Given the description of an element on the screen output the (x, y) to click on. 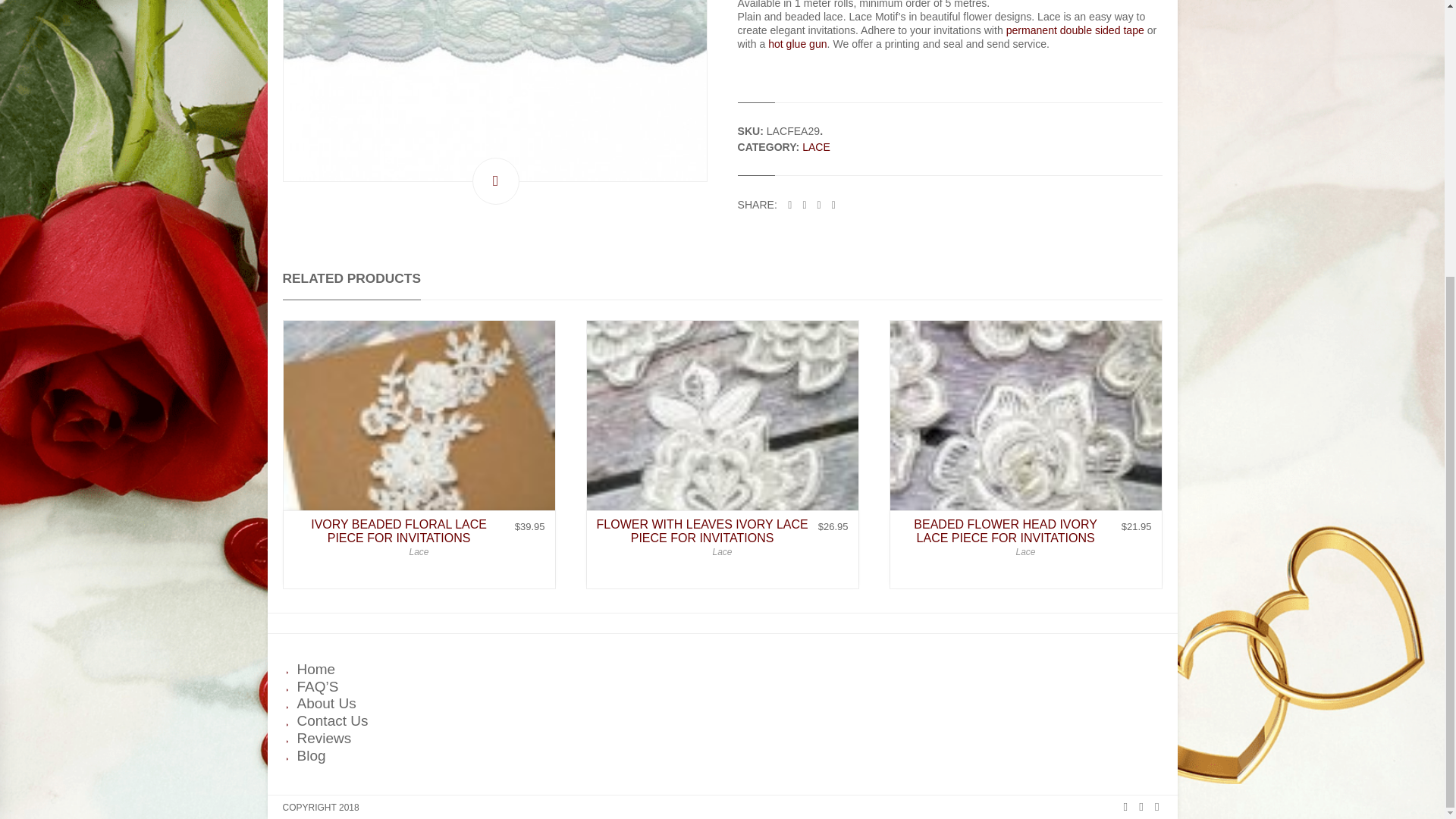
Ivory Beaded Floral Lace Piece for Invitations (418, 456)
Flower with Leaves Ivory Lace Piece for Invitations (722, 456)
Baby Blue Lace for Invitations (494, 90)
Beaded Flower Head Ivory Lace Piece for Invitations (1025, 456)
